Given the description of an element on the screen output the (x, y) to click on. 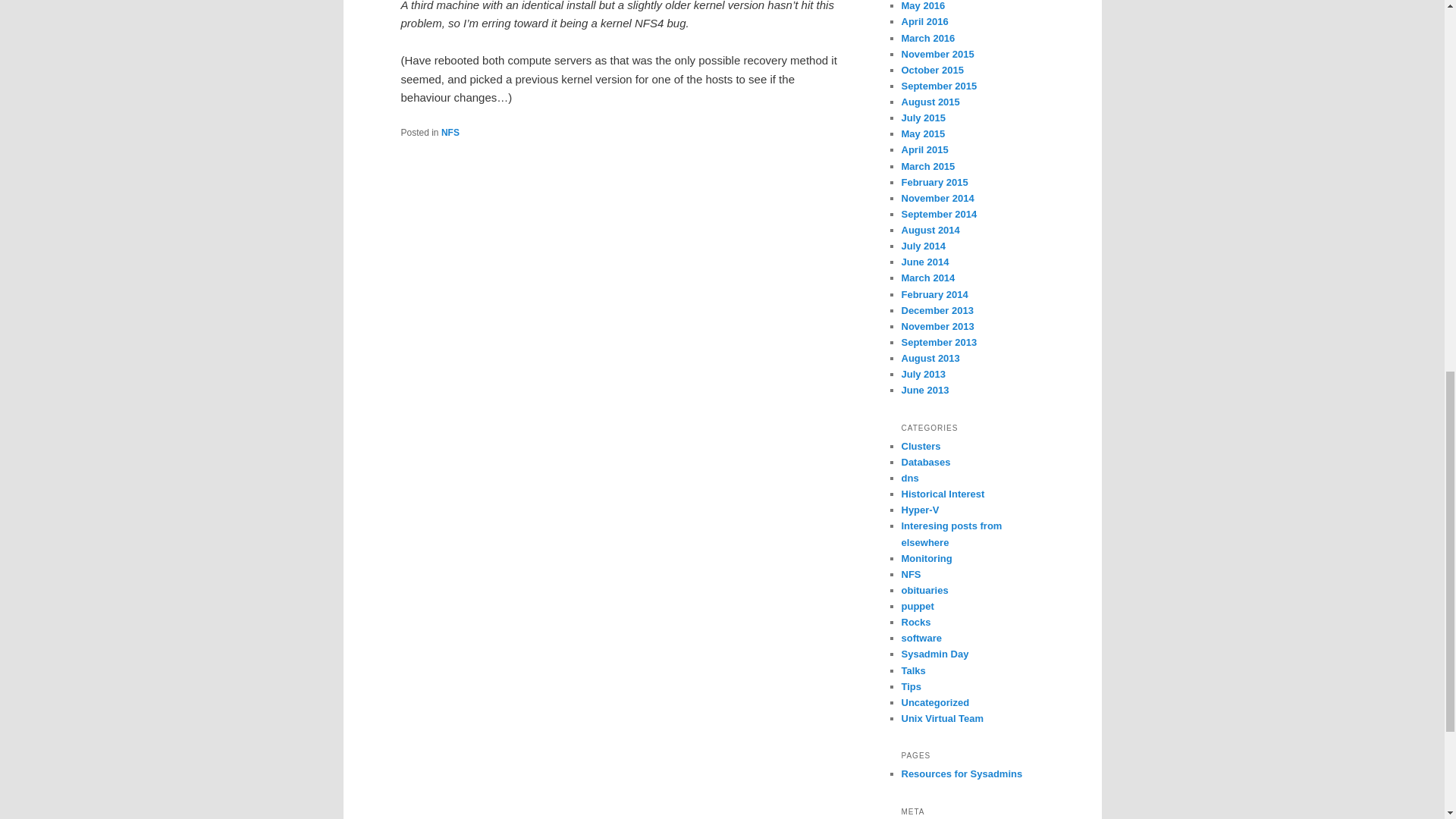
November 2015 (937, 53)
NFS (450, 132)
August 2015 (930, 101)
April 2016 (924, 21)
March 2015 (928, 165)
April 2015 (924, 149)
July 2015 (922, 117)
May 2015 (922, 133)
March 2016 (928, 38)
May 2016 (922, 5)
October 2015 (931, 70)
September 2015 (938, 85)
February 2015 (934, 182)
